Given the description of an element on the screen output the (x, y) to click on. 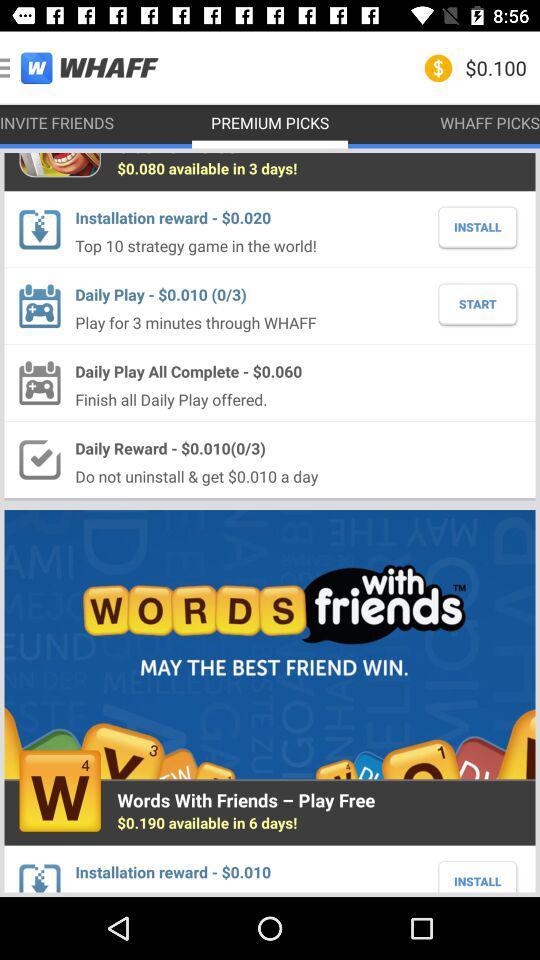
select the icon next to play for 3 (477, 304)
